Given the description of an element on the screen output the (x, y) to click on. 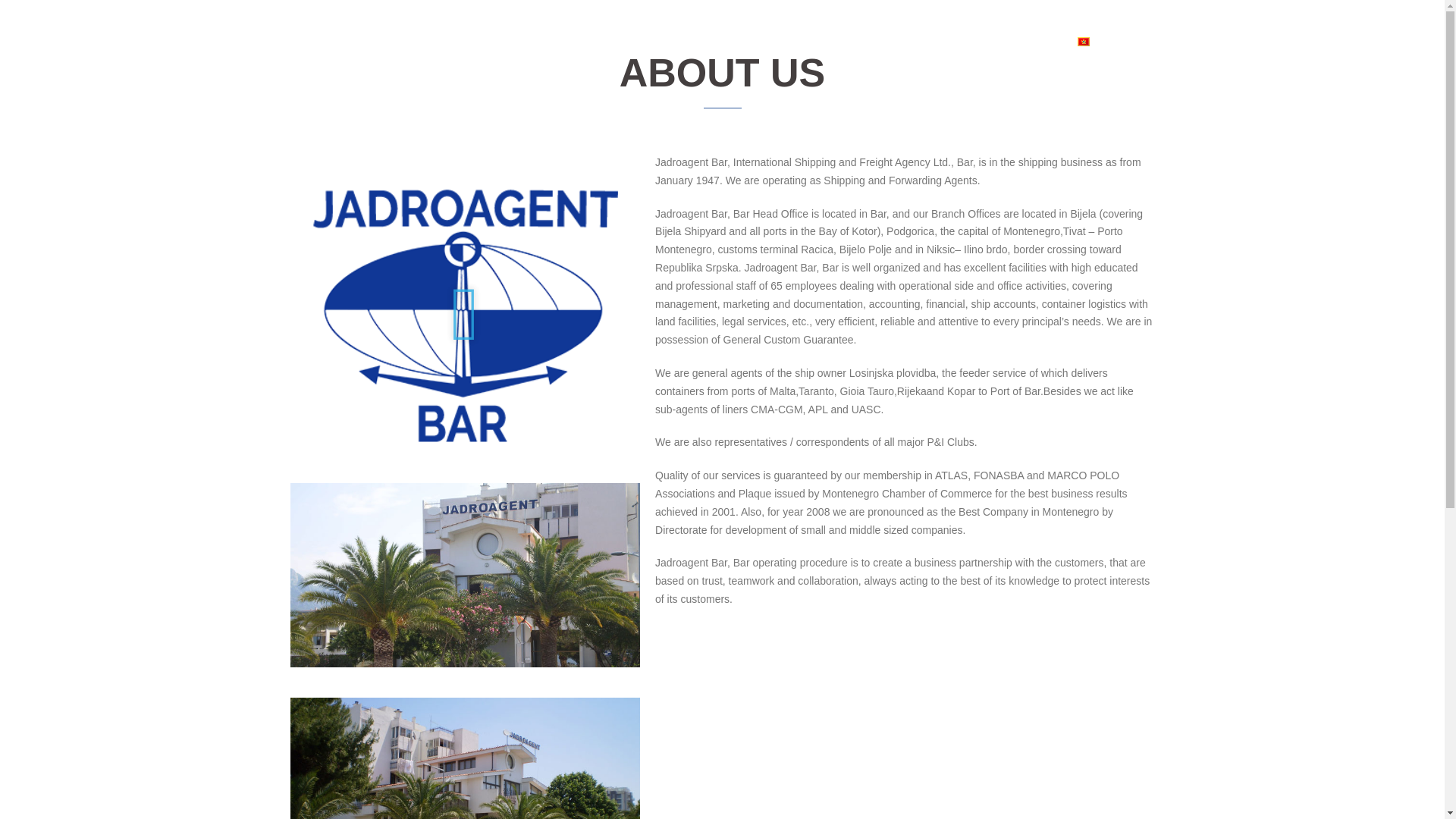
Crnogorski (1083, 40)
Services (922, 41)
Gallery (980, 41)
Crnogorski (1110, 41)
Jadroagent Bar (397, 40)
Contact (1037, 41)
About us (860, 41)
Home (804, 41)
